Given the description of an element on the screen output the (x, y) to click on. 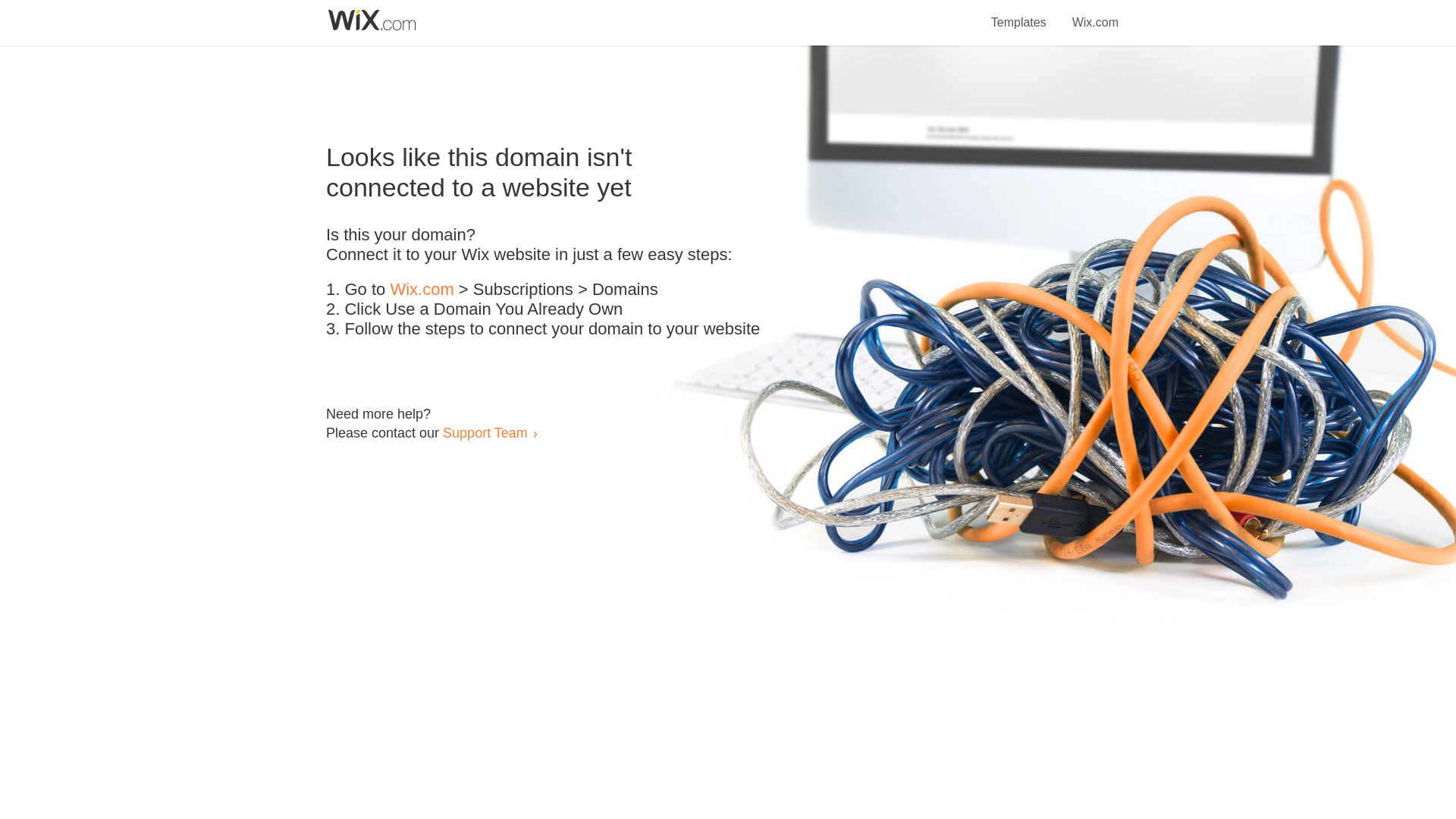
Support Team (484, 432)
Wix.com (1095, 14)
Templates (1018, 14)
Wix.com (421, 289)
